Given the description of an element on the screen output the (x, y) to click on. 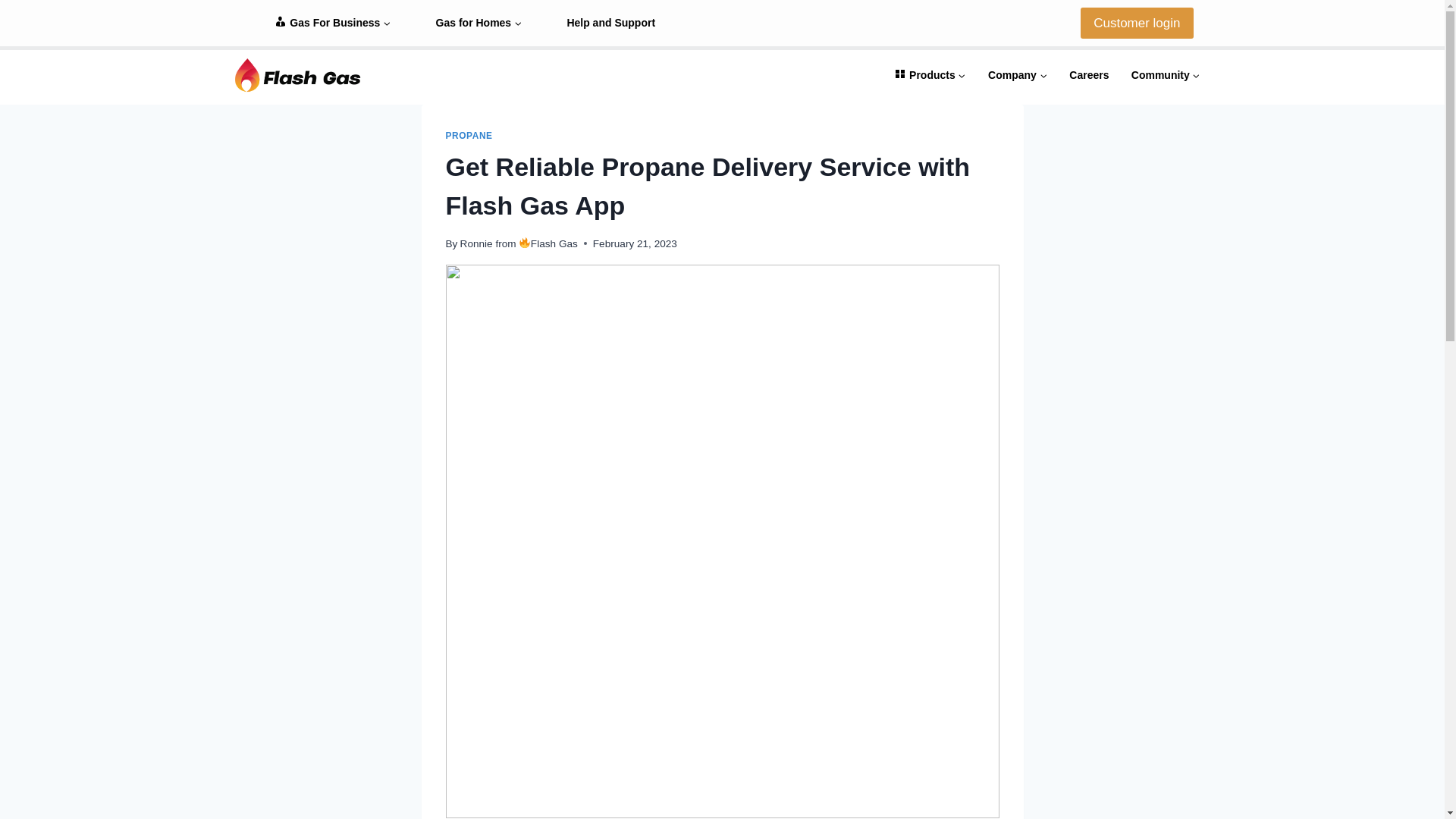
Products (929, 74)
Gas For Business (332, 22)
Help and Support (611, 22)
Community (1165, 74)
Company (1017, 74)
Gas for Homes (478, 22)
Careers (1089, 74)
Customer login (1136, 22)
